Given the description of an element on the screen output the (x, y) to click on. 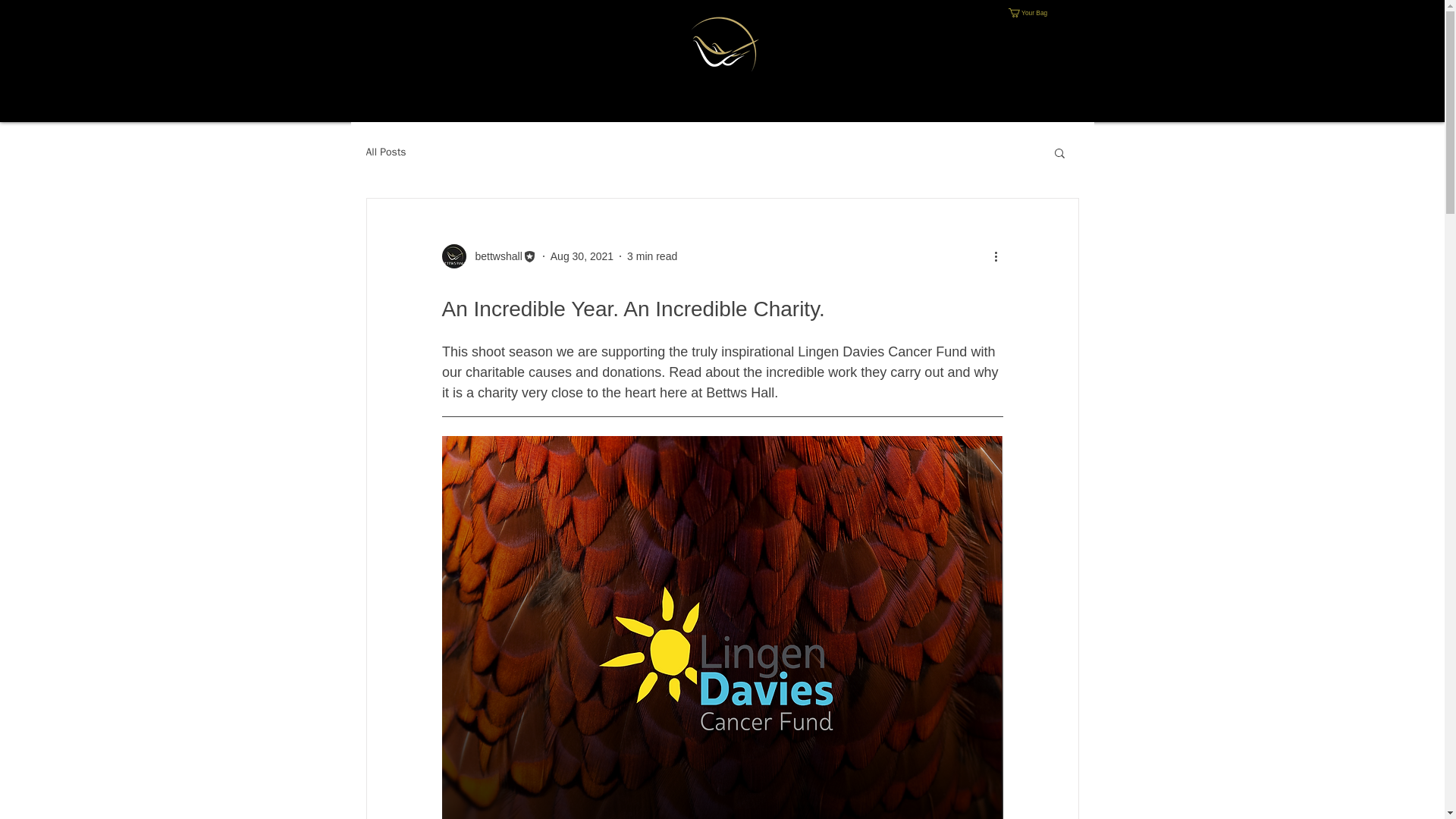
Aug 30, 2021 (581, 256)
3 min read (652, 256)
Your Bag (1033, 12)
Your Bag (1033, 12)
bettwshall (493, 256)
